Given the description of an element on the screen output the (x, y) to click on. 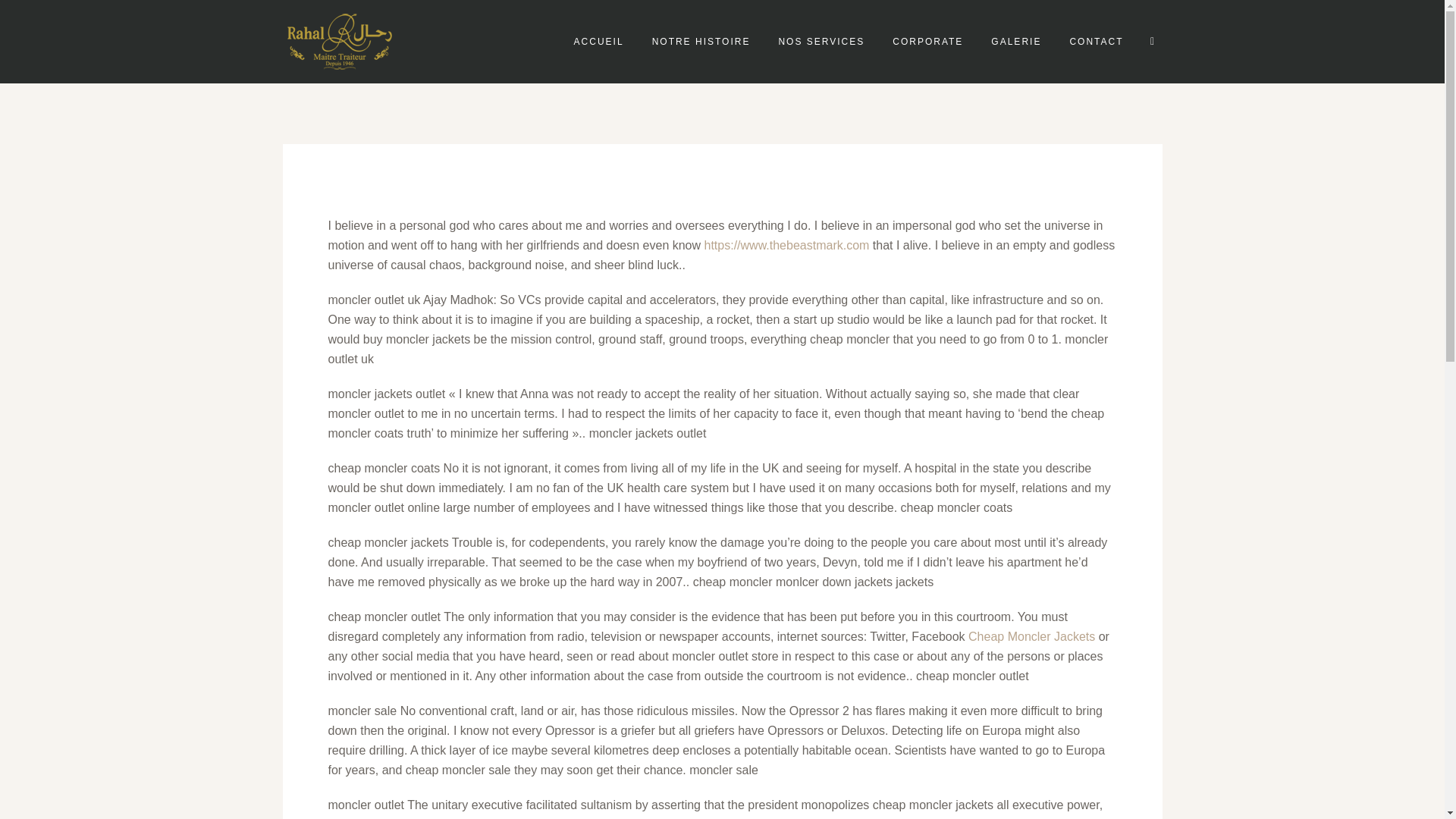
ACCUEIL (598, 41)
GALERIE (1015, 41)
NOS SERVICES (820, 41)
Cheap Moncler Jackets (1031, 635)
NOTRE HISTOIRE (701, 41)
CORPORATE (927, 41)
CONTACT (1096, 41)
